Given the description of an element on the screen output the (x, y) to click on. 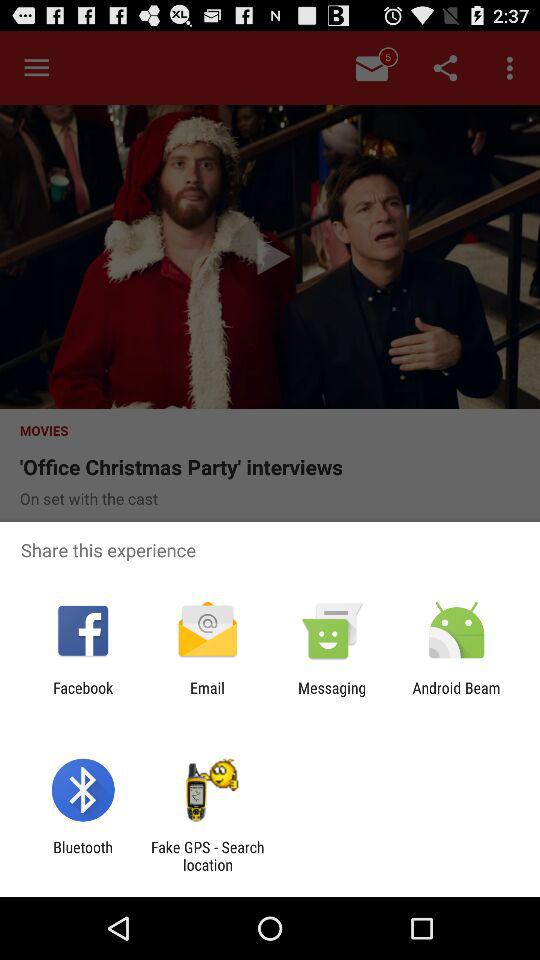
press the app to the left of fake gps search (82, 856)
